Given the description of an element on the screen output the (x, y) to click on. 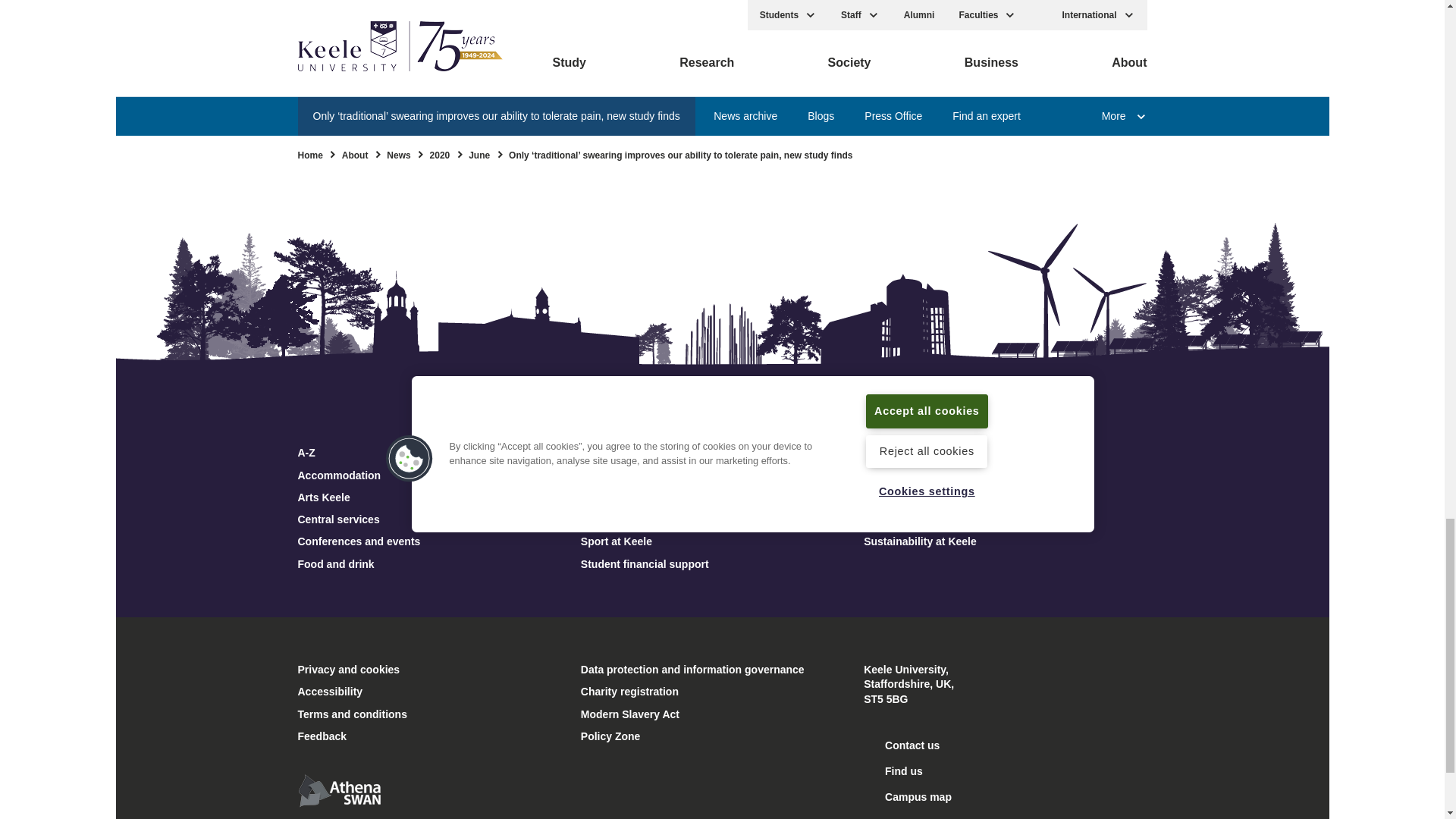
Find us (893, 771)
Link to Instagram (748, 139)
Access (892, 817)
Campus map (907, 796)
Contact us (901, 745)
Link to Facebook (590, 139)
Link to Youtube (696, 139)
Link to Twitter (642, 139)
Link to Weibo (853, 139)
Link to LinkedIn (801, 139)
